Given the description of an element on the screen output the (x, y) to click on. 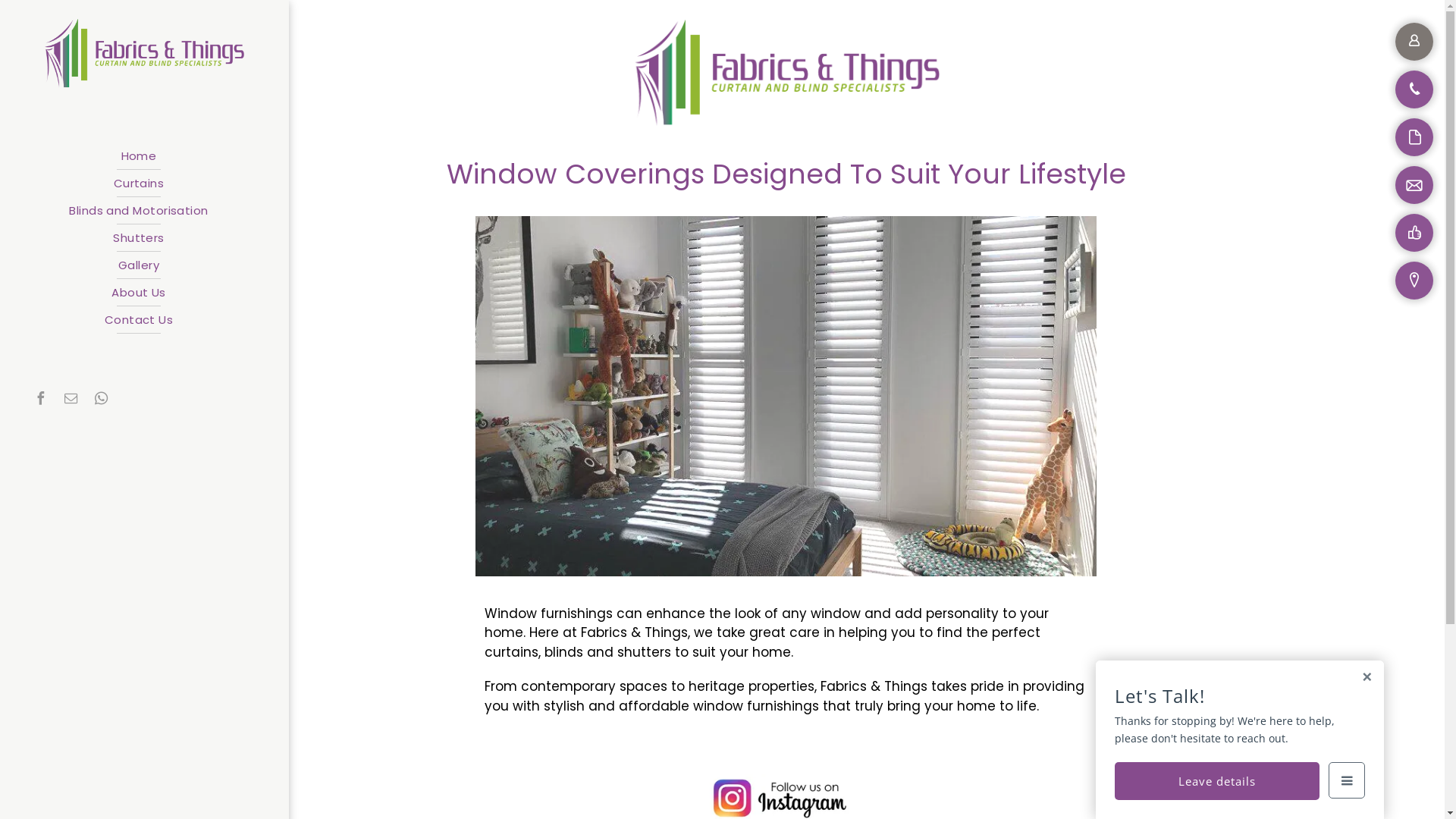
Curtains Element type: text (138, 182)
Shutters Element type: text (138, 237)
Home Element type: text (138, 155)
Gallery Element type: text (138, 264)
Leave details Element type: text (1216, 781)
About Us Element type: text (138, 292)
Contact Us Element type: text (138, 319)
Blinds and Motorisation Element type: text (138, 210)
